Given the description of an element on the screen output the (x, y) to click on. 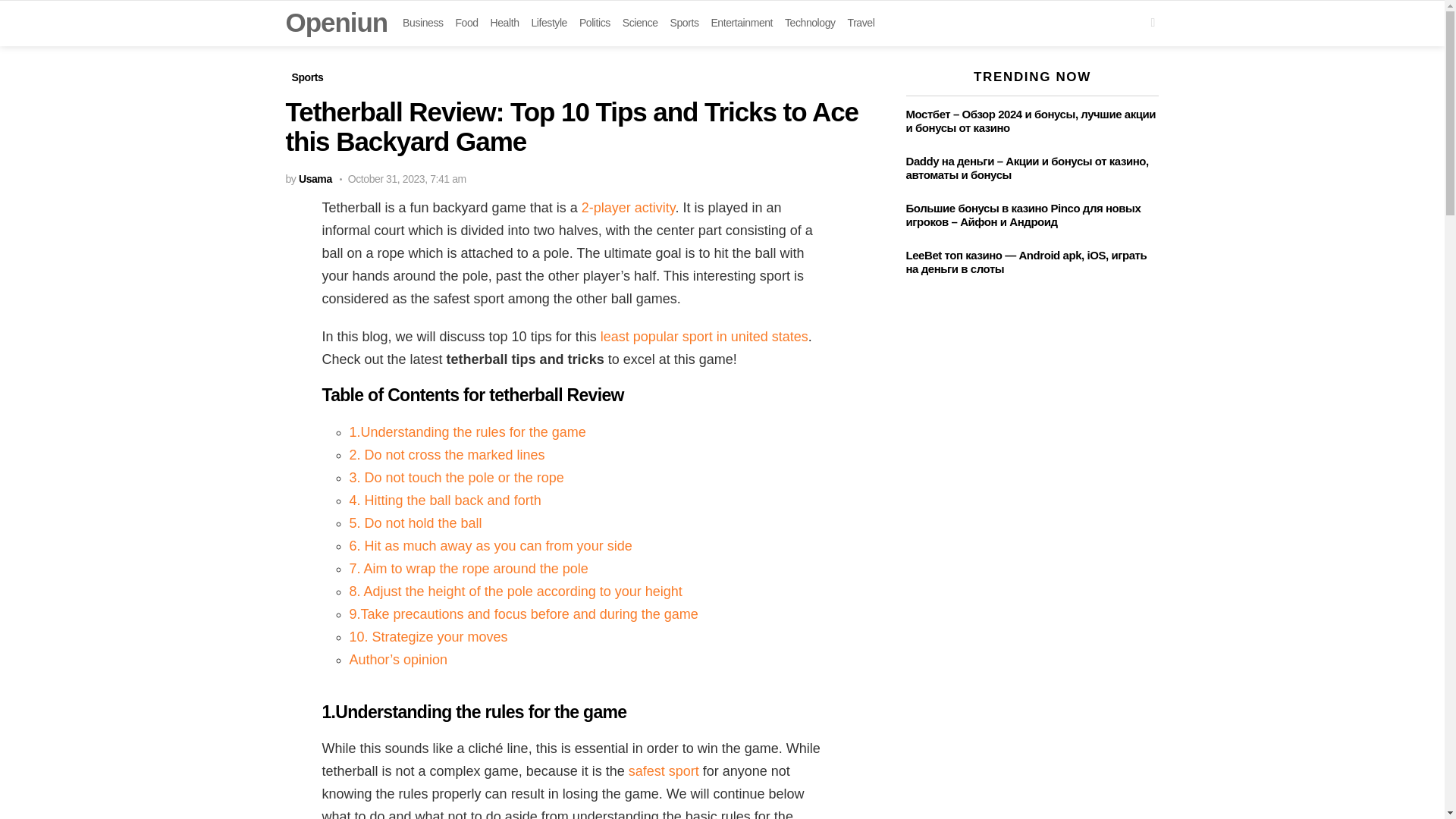
Business (422, 22)
least popular sport in united states (703, 336)
Food (465, 22)
4. Hitting the ball back and forth (444, 500)
Health (504, 22)
1.Understanding the rules for the game (467, 432)
Politics (594, 22)
8. Adjust the height of the pole according to your height (515, 590)
5. Do not hold the ball (415, 522)
Science (640, 22)
7. Aim to wrap the rope around the pole (468, 568)
9.Take precautions and focus before and during the game (523, 613)
2. Do not cross the marked lines (446, 454)
Posts by Usama (314, 178)
Technology (809, 22)
